Given the description of an element on the screen output the (x, y) to click on. 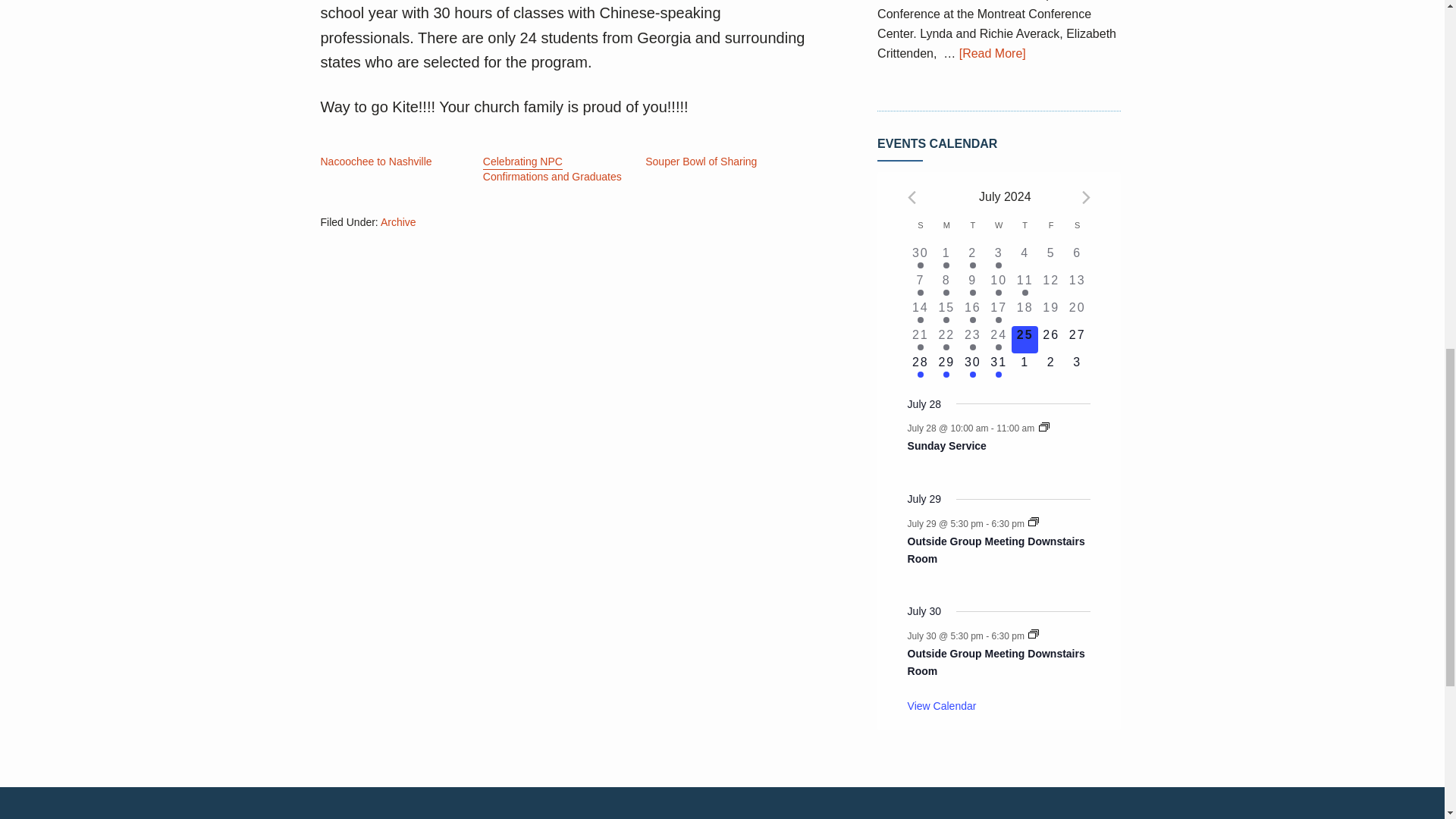
Event Series (1033, 521)
Event Series (1044, 426)
Event Series (1033, 633)
Nacoochee to Nashville (375, 162)
Souper Bowl of Sharing (701, 162)
Has events (920, 265)
Celebrating NPC Confirmations and Graduates (552, 170)
Has events (946, 265)
Nacoochee to Nashville (375, 162)
